Given the description of an element on the screen output the (x, y) to click on. 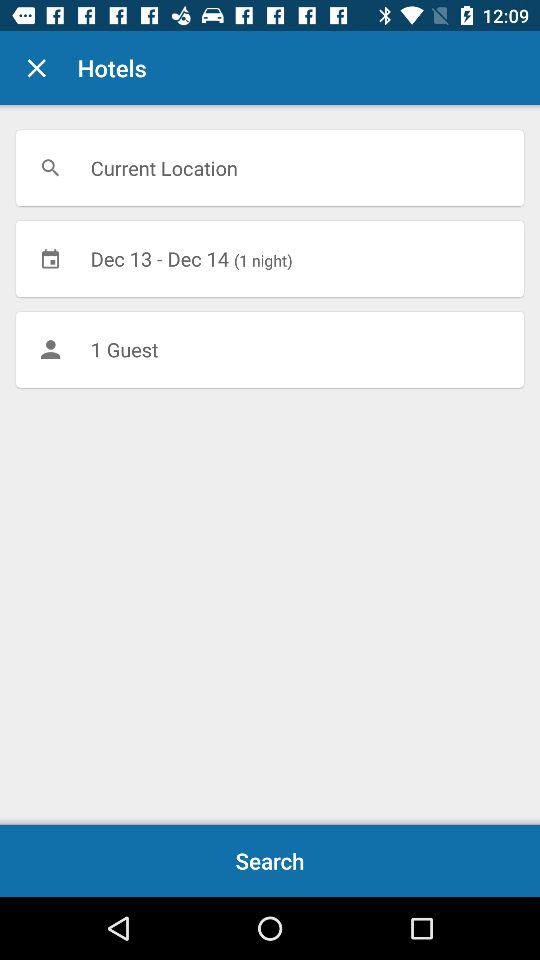
turn off 1 guest (269, 349)
